Given the description of an element on the screen output the (x, y) to click on. 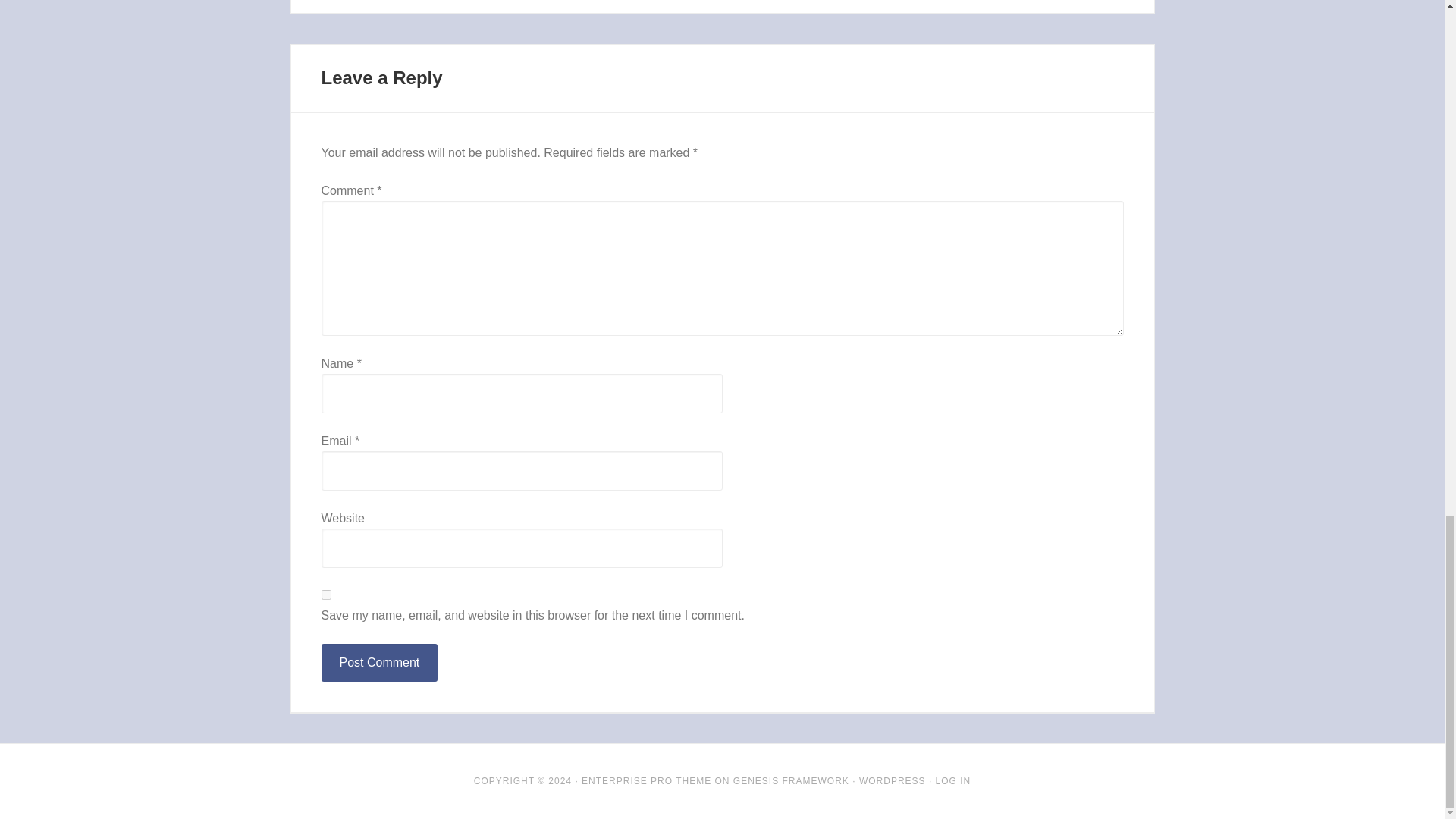
yes (326, 594)
GENESIS FRAMEWORK (790, 780)
Post Comment (379, 662)
LOG IN (953, 780)
ENTERPRISE PRO THEME (645, 780)
Post Comment (379, 662)
WORDPRESS (892, 780)
